Given the description of an element on the screen output the (x, y) to click on. 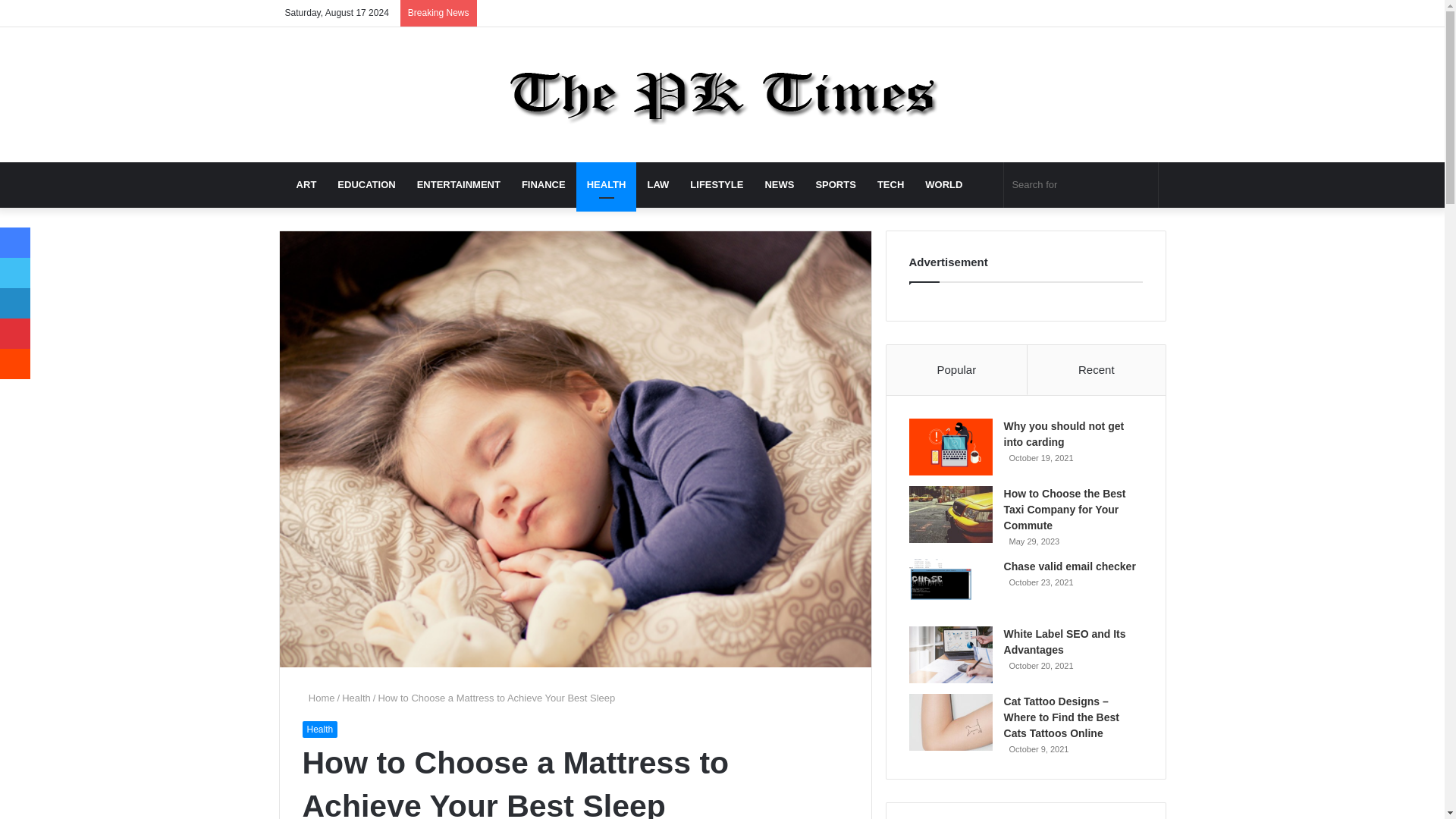
TECH (890, 185)
FINANCE (543, 185)
Search for (1080, 185)
HEALTH (606, 185)
Health (319, 729)
EDUCATION (366, 185)
SPORTS (835, 185)
ENTERTAINMENT (458, 185)
Home (317, 697)
The PK Times (722, 94)
